Given the description of an element on the screen output the (x, y) to click on. 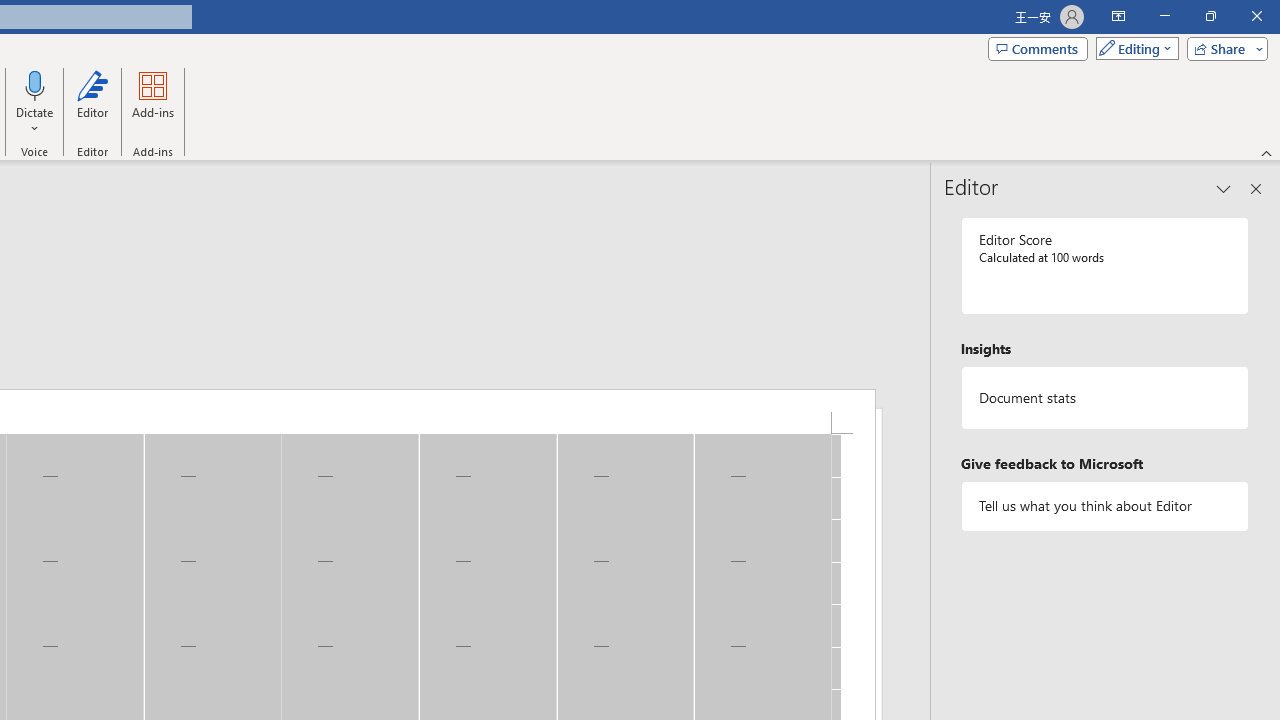
Dictate (35, 84)
Close (1256, 16)
Share (1223, 48)
Minimize (1164, 16)
Document statistics (1105, 398)
Ribbon Display Options (1118, 16)
More Options (35, 121)
Close pane (1256, 188)
Comments (1038, 48)
Collapse the Ribbon (1267, 152)
Tell us what you think about Editor (1105, 506)
Task Pane Options (1224, 188)
Restore Down (1210, 16)
